Given the description of an element on the screen output the (x, y) to click on. 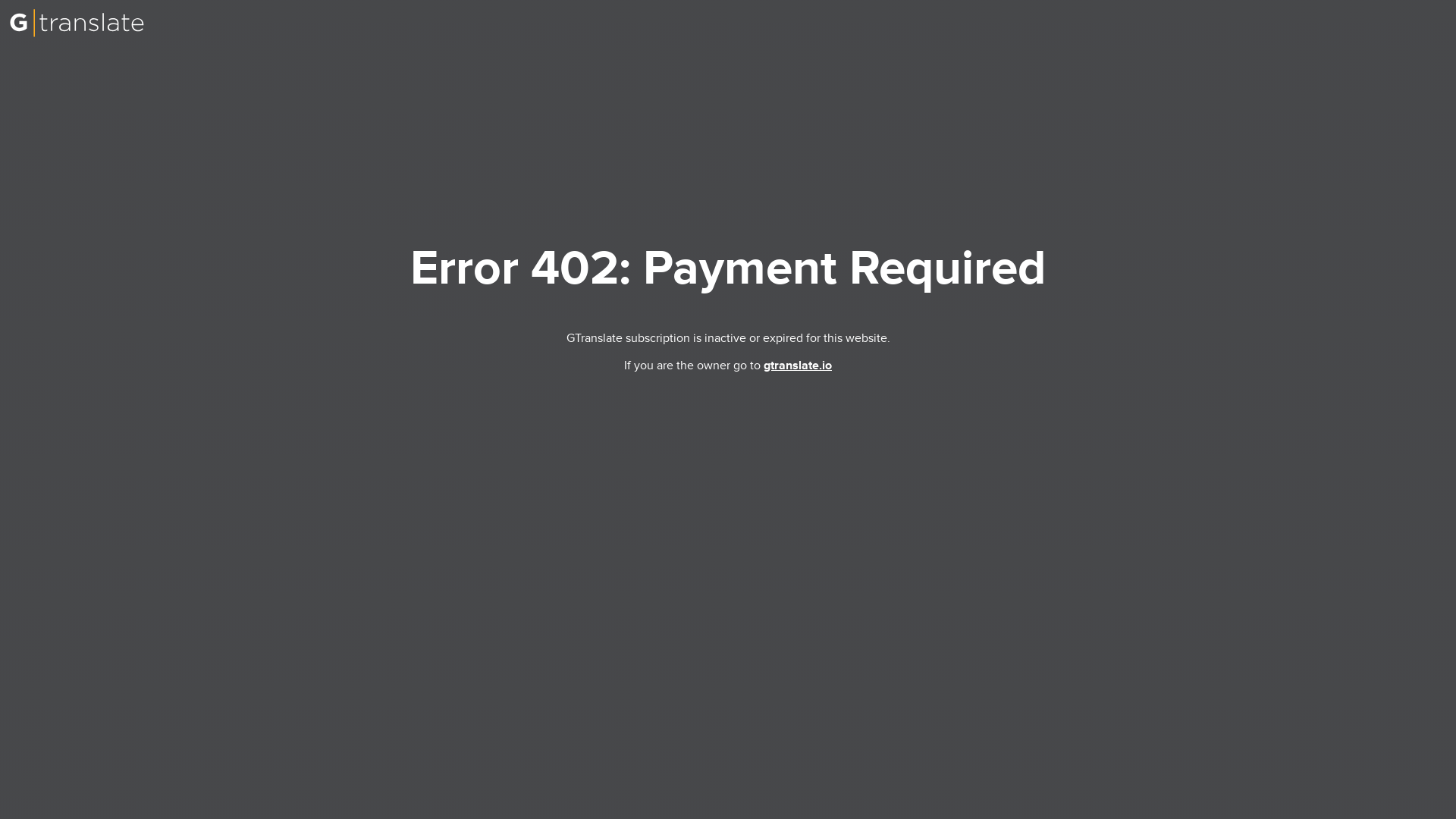
gtranslate.io (796, 365)
